Given the description of an element on the screen output the (x, y) to click on. 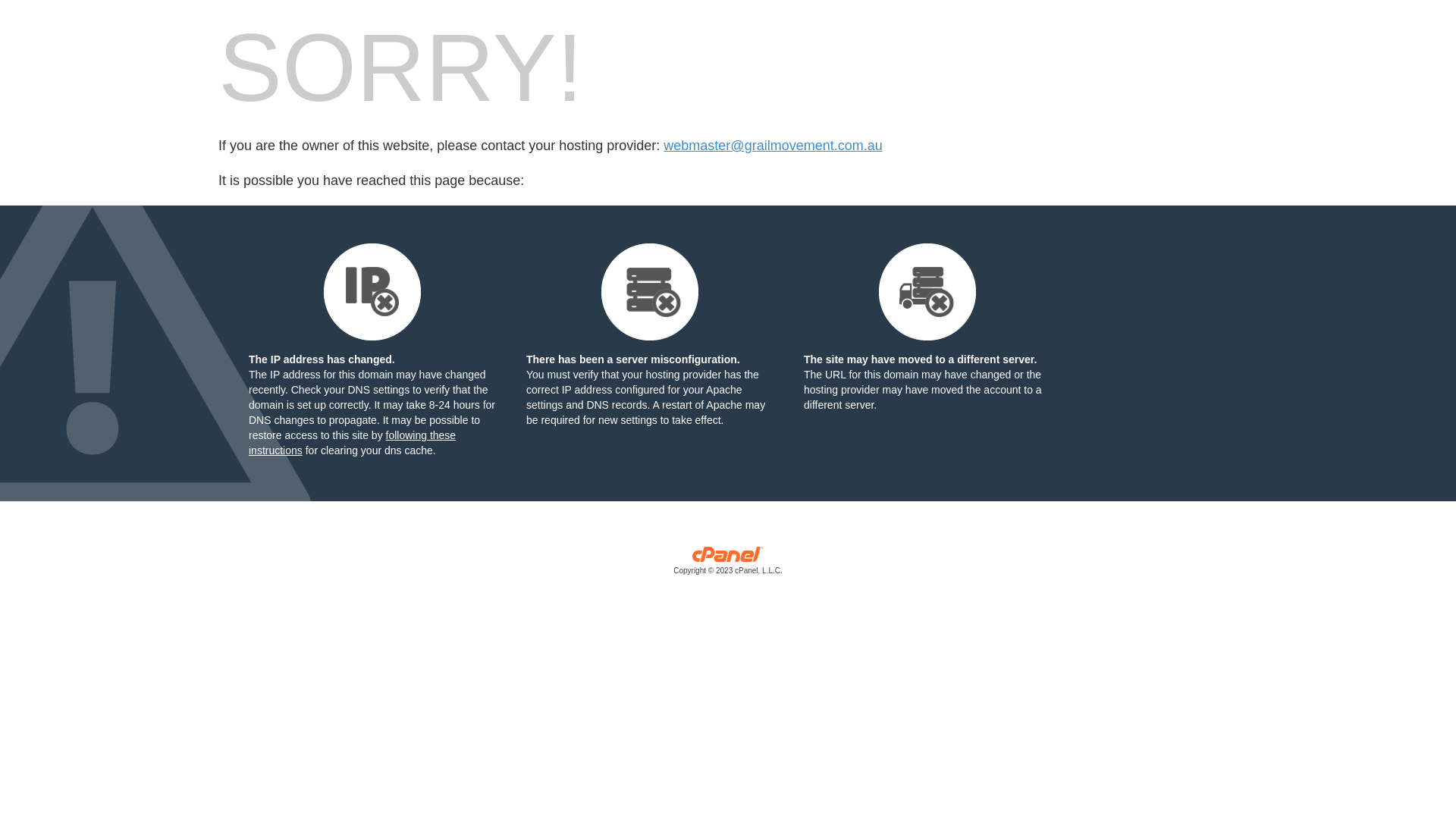
webmaster@grailmovement.com.au Element type: text (772, 145)
following these instructions Element type: text (351, 442)
